Given the description of an element on the screen output the (x, y) to click on. 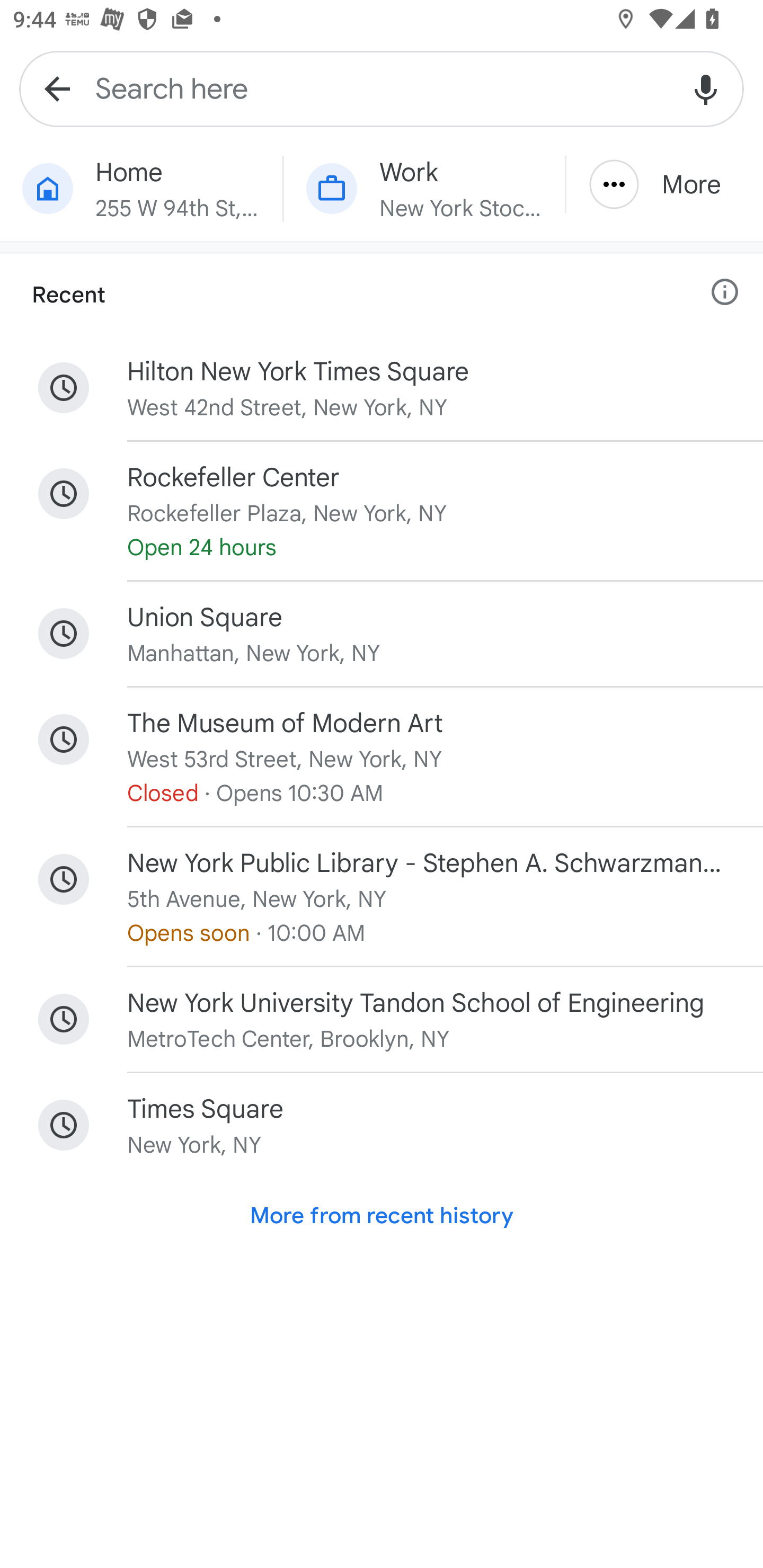
Navigate up (57, 88)
Search here (381, 88)
Voice search (705, 88)
More (664, 184)
Union Square Manhattan, New York, NY (381, 633)
Times Square New York, NY (381, 1124)
More from recent history (381, 1215)
